Given the description of an element on the screen output the (x, y) to click on. 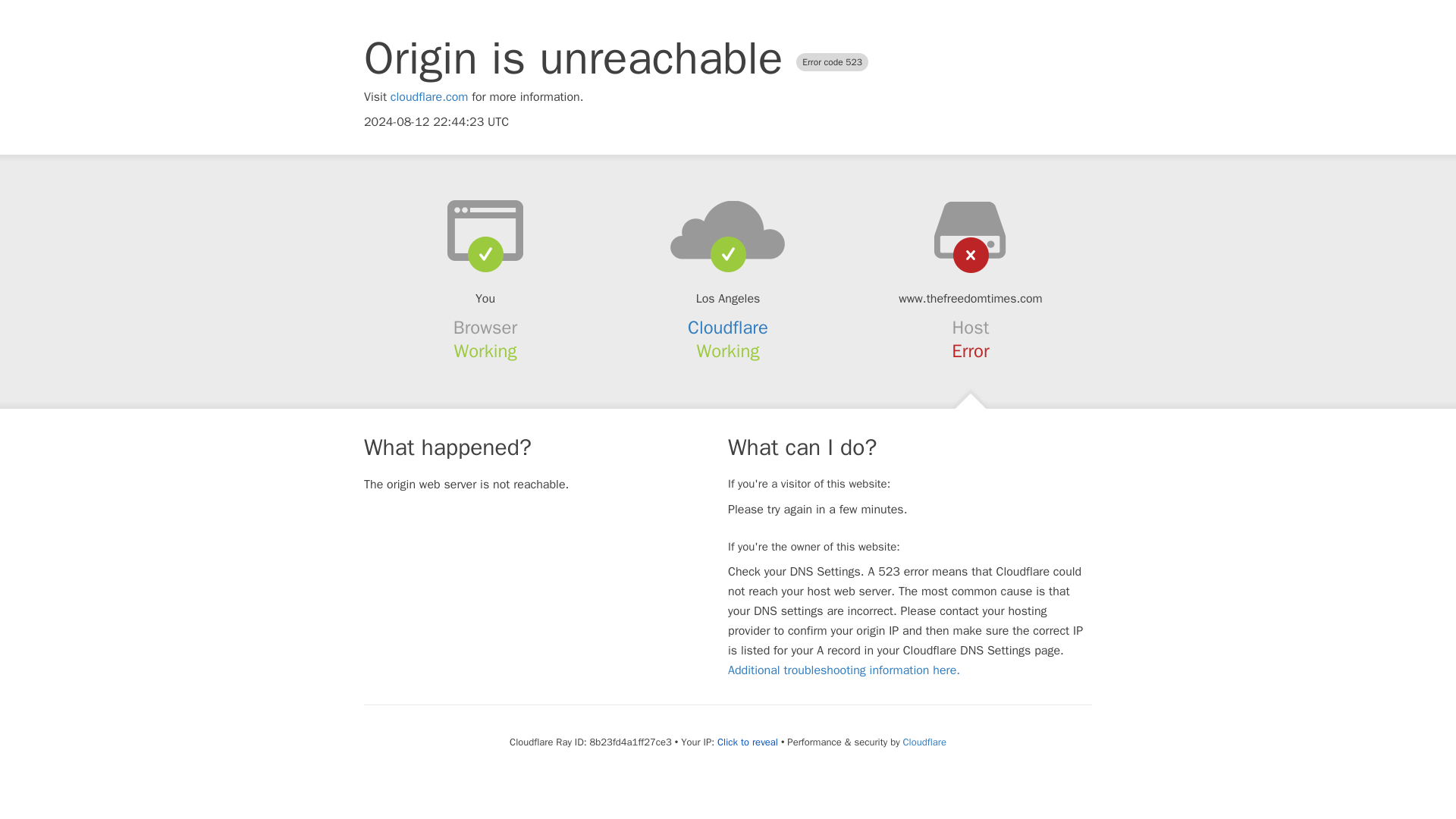
Click to reveal (747, 742)
Additional troubleshooting information here. (843, 670)
Cloudflare (727, 327)
Cloudflare (924, 741)
cloudflare.com (429, 96)
